Given the description of an element on the screen output the (x, y) to click on. 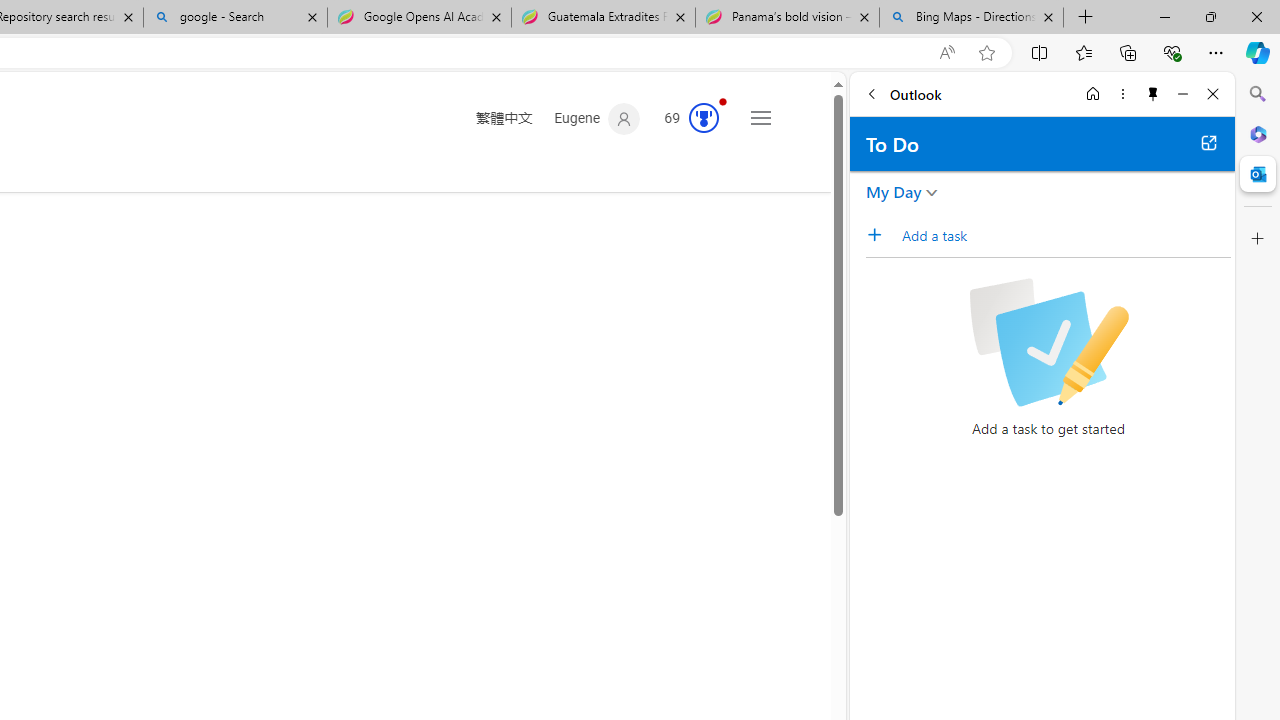
Back (871, 93)
AutomationID: serp_medal_svg (703, 117)
Animation (723, 101)
Browser essentials (1171, 52)
Close (1213, 93)
Read aloud this page (Ctrl+Shift+U) (946, 53)
Settings and more (Alt+F) (1215, 52)
